Given the description of an element on the screen output the (x, y) to click on. 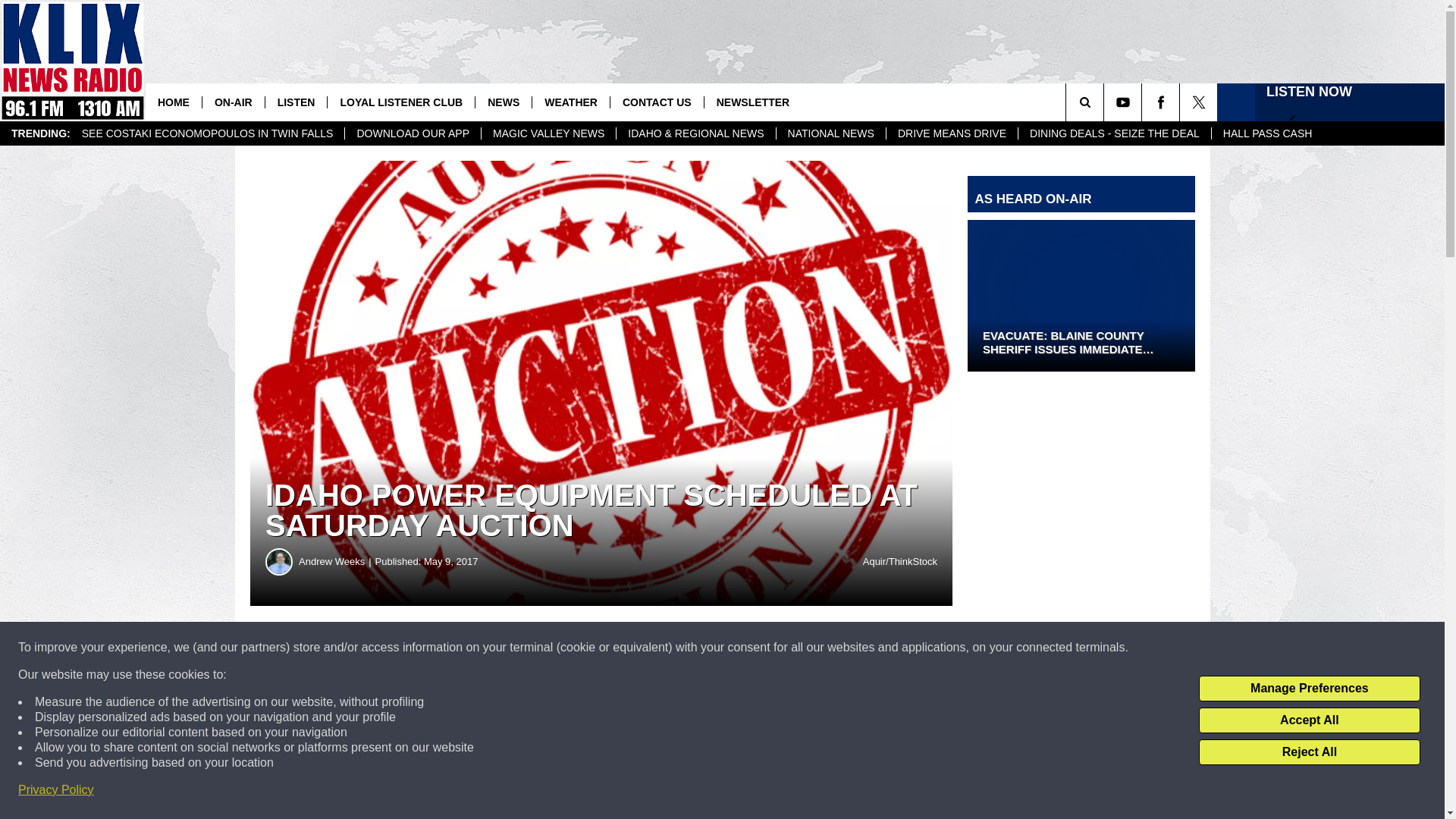
ON-AIR (233, 102)
SEE COSTAKI ECONOMOPOULOS IN TWIN FALLS (207, 133)
Share on Twitter (741, 647)
HALL PASS CASH (1267, 133)
Reject All (1309, 751)
Manage Preferences (1309, 688)
SEARCH (1106, 102)
Accept All (1309, 720)
MAGIC VALLEY NEWS (547, 133)
LISTEN (295, 102)
